Given the description of an element on the screen output the (x, y) to click on. 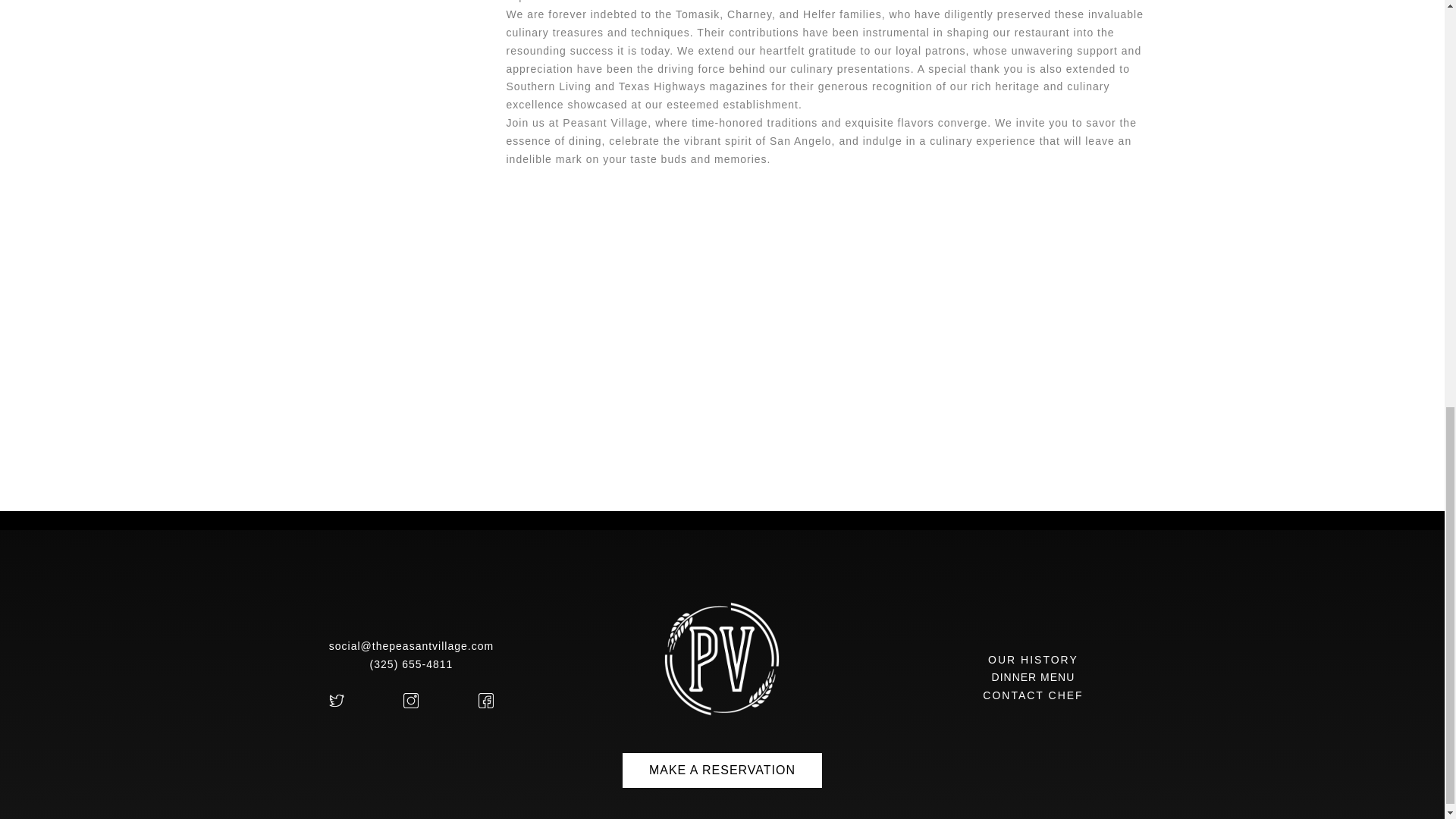
MAKE A RESERVATION (722, 769)
CONTACT CHEF (1032, 695)
OUR HISTORY (1033, 659)
DINNER MENU (1033, 676)
